Given the description of an element on the screen output the (x, y) to click on. 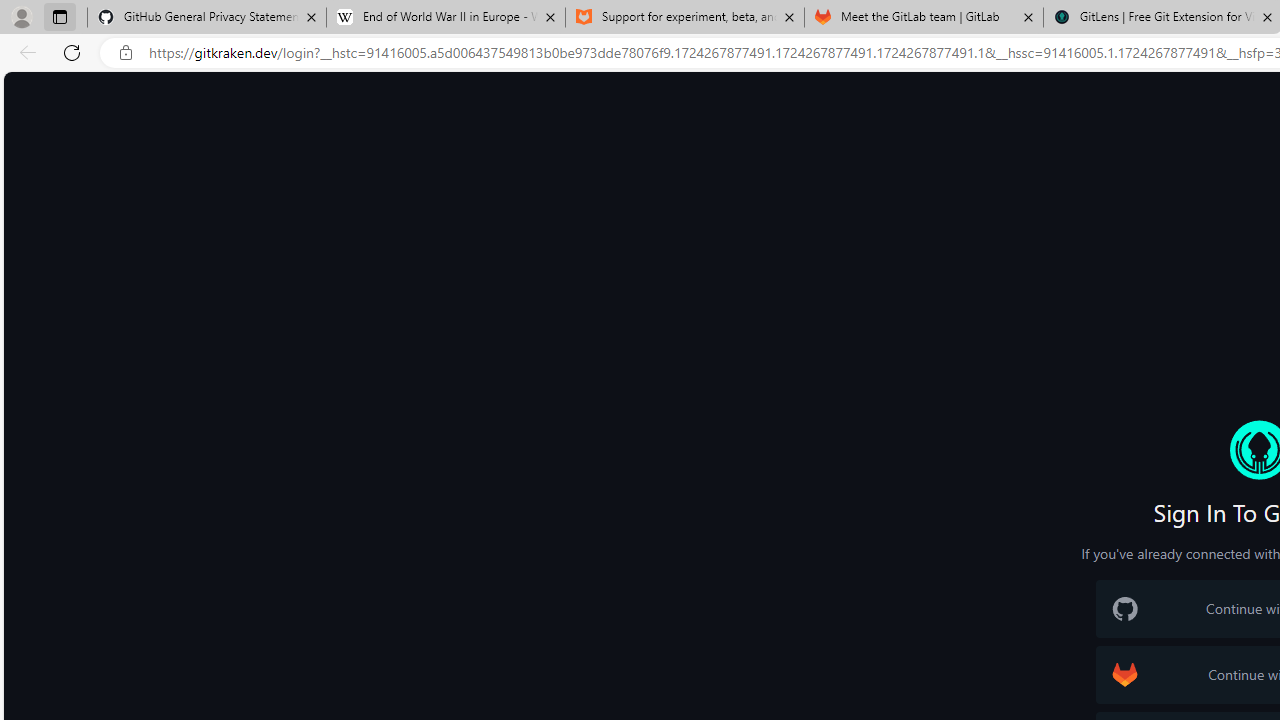
GitHub Logo (1124, 609)
GitHub General Privacy Statement - GitHub Docs (207, 17)
GitLab Logo (1124, 674)
Meet the GitLab team | GitLab (924, 17)
End of World War II in Europe - Wikipedia (445, 17)
